Given the description of an element on the screen output the (x, y) to click on. 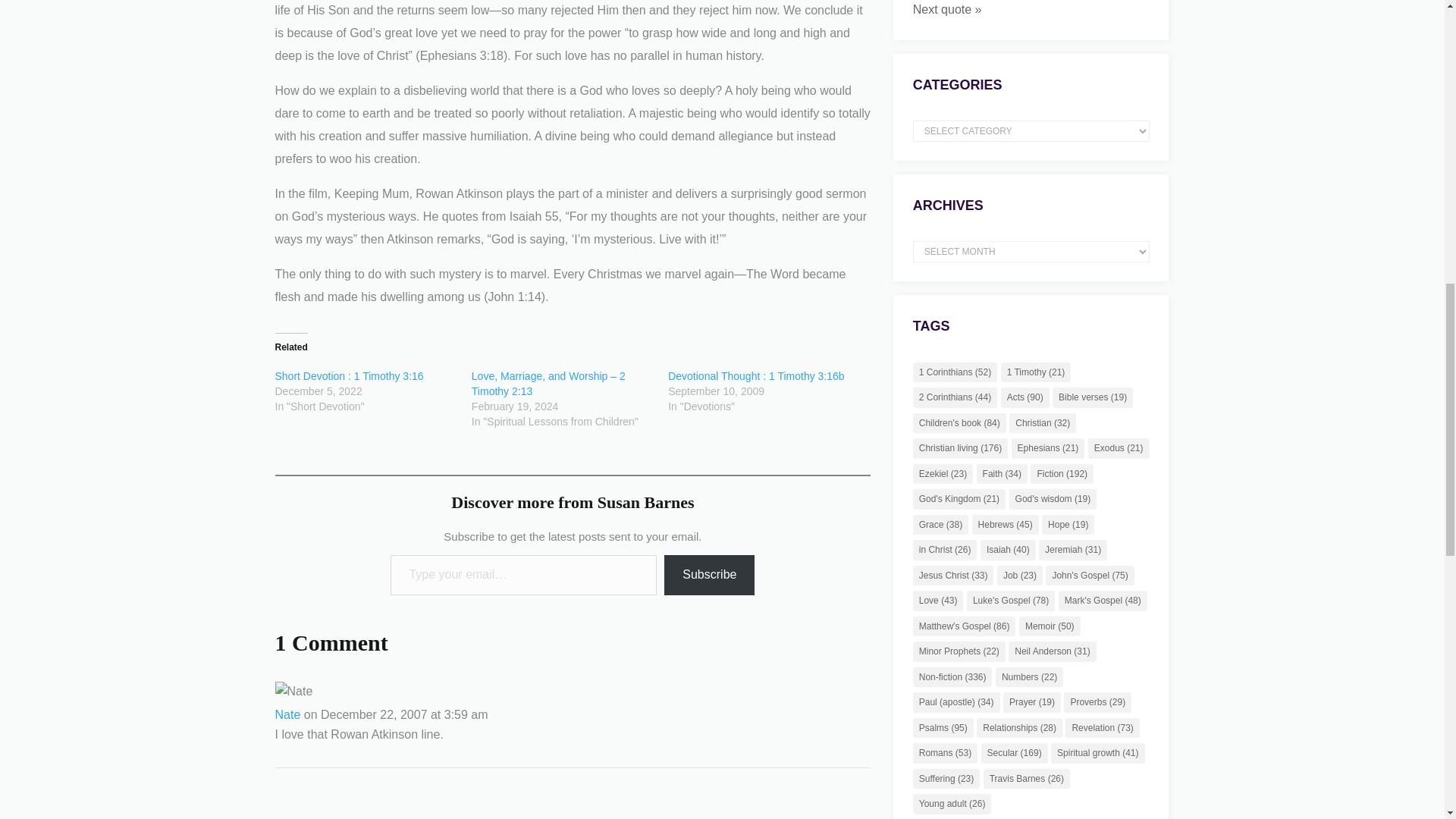
Nate (287, 714)
Please fill in this field. (523, 575)
Subscribe (708, 575)
Devotional Thought : 1 Timothy 3:16b (756, 376)
Short Devotion : 1 Timothy 3:16 (349, 376)
Devotional Thought : 1 Timothy 3:16b (756, 376)
Short Devotion : 1 Timothy 3:16 (349, 376)
